Given the description of an element on the screen output the (x, y) to click on. 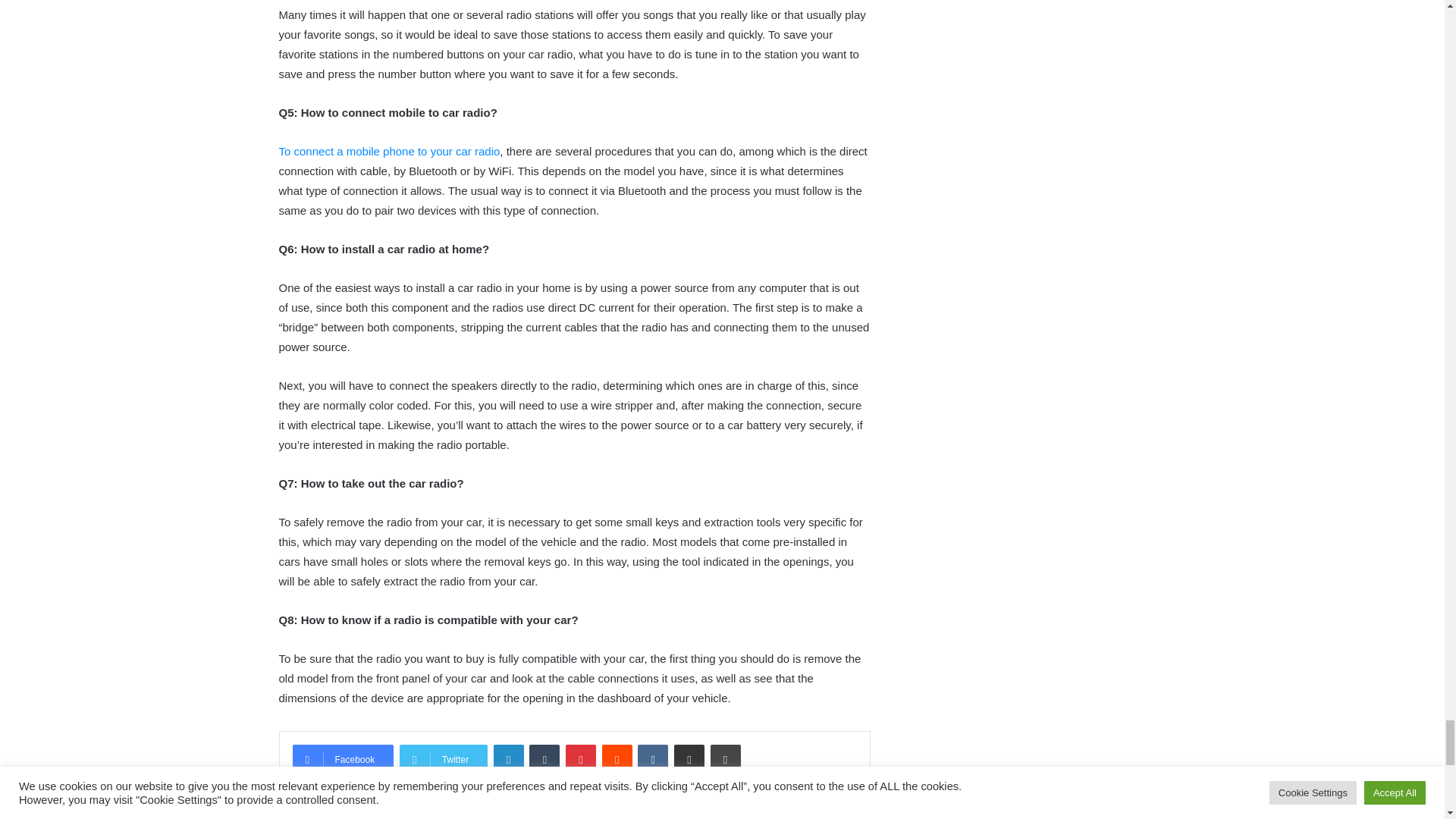
Tumblr (544, 759)
LinkedIn (508, 759)
LinkedIn (508, 759)
Tumblr (544, 759)
Facebook (343, 759)
Twitter (442, 759)
Reddit (616, 759)
Reddit (616, 759)
Pinterest (580, 759)
Twitter (442, 759)
VKontakte (652, 759)
VKontakte (652, 759)
Pinterest (580, 759)
Facebook (343, 759)
To connect a mobile phone to your car radio (389, 151)
